Given the description of an element on the screen output the (x, y) to click on. 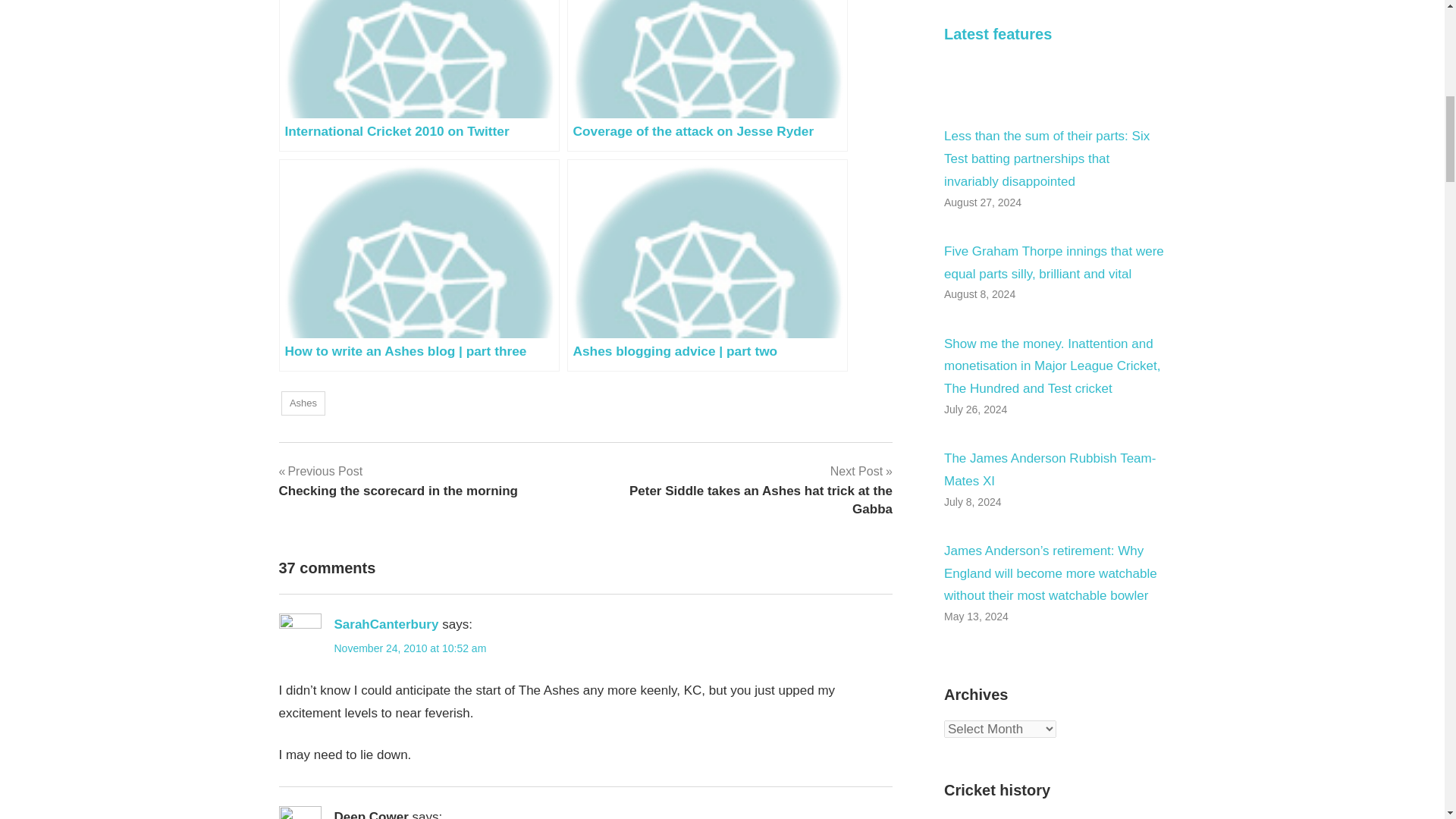
International Cricket 2010 on Twitter (419, 75)
SarahCanterbury (385, 624)
Coverage of the attack on Jesse Ryder (398, 480)
International Cricket 2010 on Twitter (707, 75)
Ashes (419, 75)
Coverage of the attack on Jesse Ryder (302, 403)
November 24, 2010 at 10:52 am (707, 75)
